Given the description of an element on the screen output the (x, y) to click on. 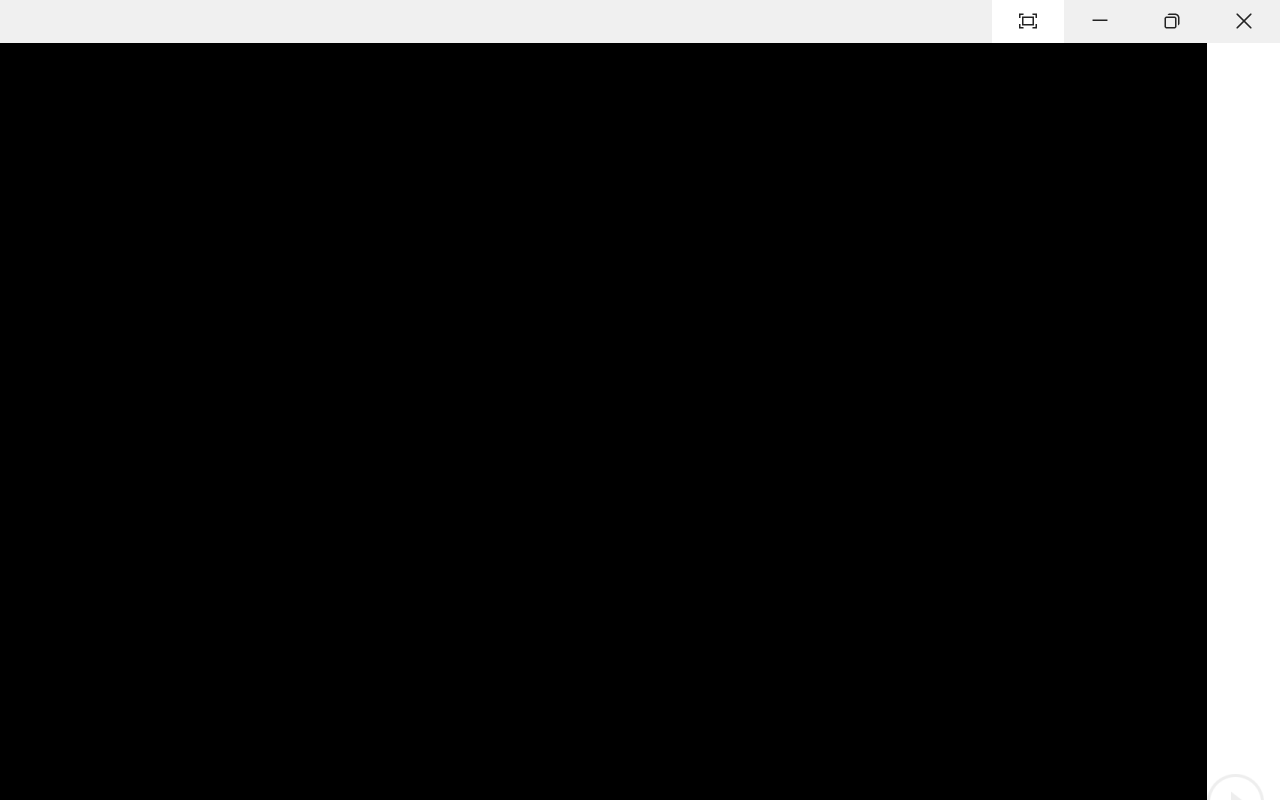
2403.02502v1.pdf (1077, 200)
2304.09121v3.pdf (962, 52)
Bring Forward (62, 179)
Send Backward (159, 179)
Editing (1101, 94)
Selection Pane... (251, 179)
Symbol-llm-v2.pdf (962, 200)
2404.05719v1.pdf (1192, 496)
2301.12597v3.pdf (1192, 348)
